Given the description of an element on the screen output the (x, y) to click on. 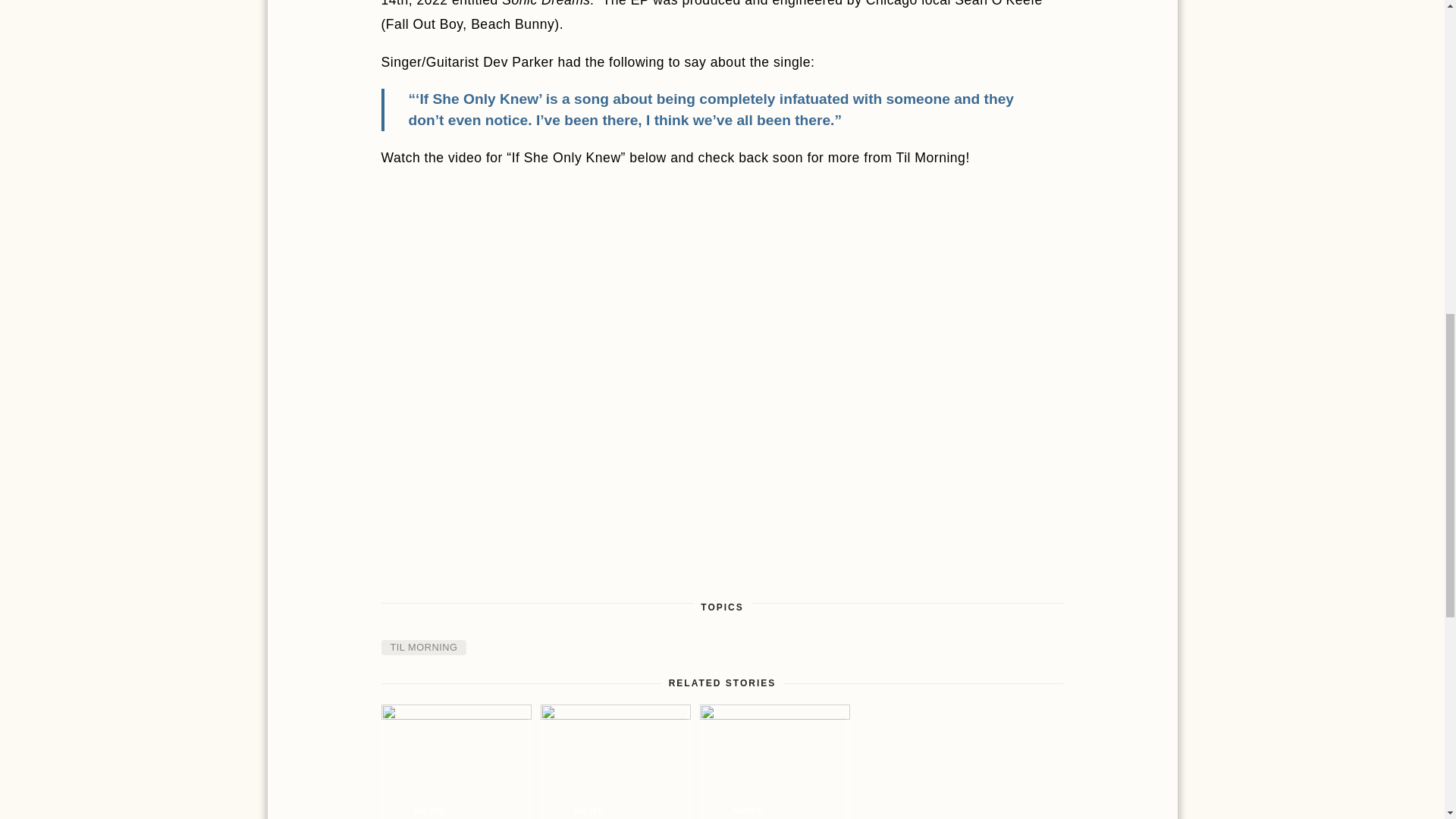
TIL MORNING (422, 647)
NEWSVIDEO (455, 761)
NEWSVIDEO (615, 761)
NEWSVIDEO (773, 761)
